Given the description of an element on the screen output the (x, y) to click on. 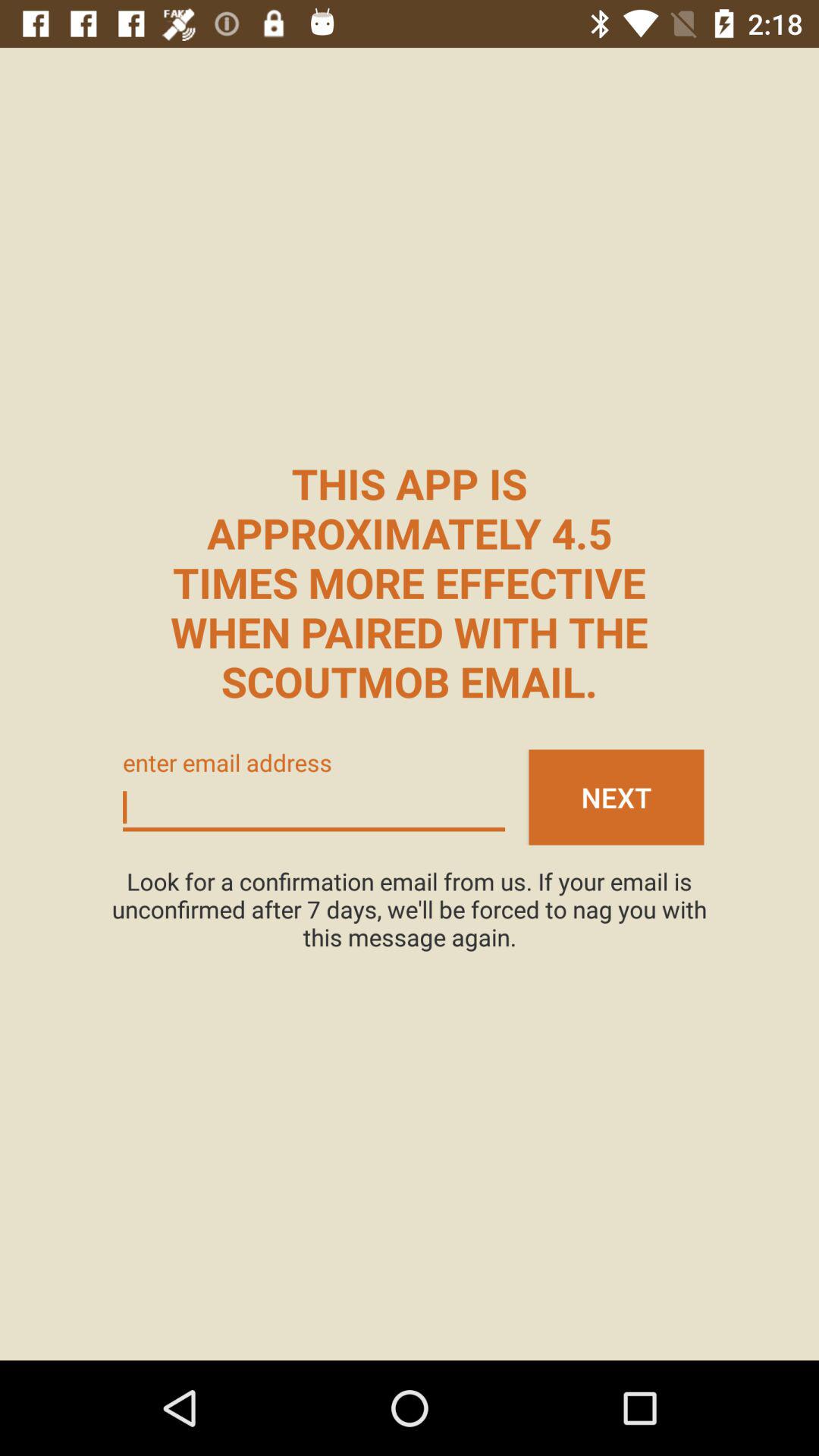
enter email (313, 808)
